Given the description of an element on the screen output the (x, y) to click on. 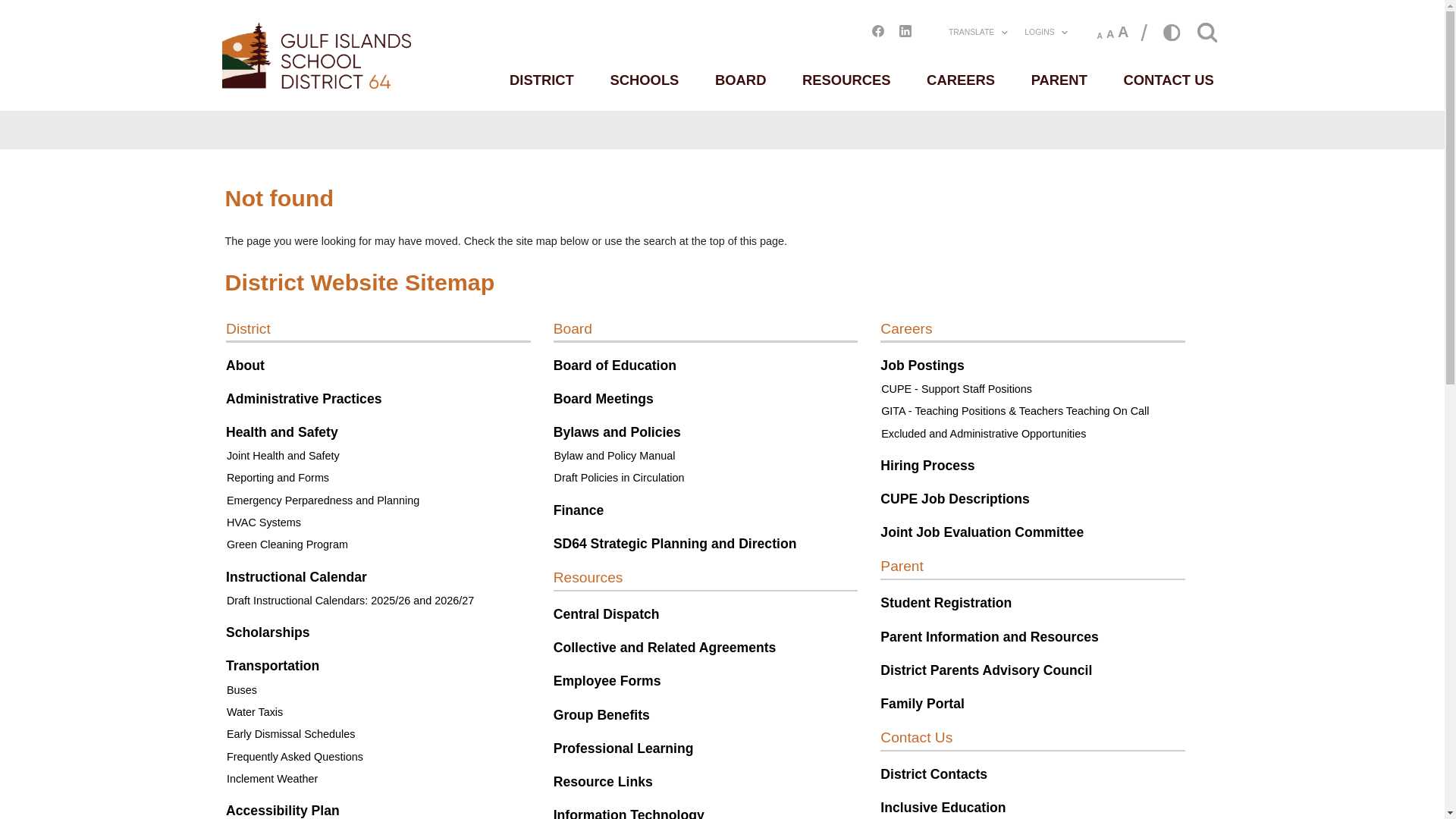
Joint Health and Safety Element type: text (353, 569)
RESOURCES Element type: text (1058, 100)
Board of Education Element type: text (768, 456)
Parent Information and Resources Element type: text (1237, 795)
SCHOOLS Element type: text (805, 100)
Excluded and Administrative Opportunities Element type: text (1229, 541)
Student Registration Element type: text (1182, 753)
Draft Policies in Circulation Element type: text (773, 597)
HVAC Systems Element type: text (329, 652)
CUPE - Support Staff Positions Element type: text (1195, 485)
PARENT Element type: text (1323, 100)
Parent Element type: text (1127, 708)
Bylaws and Policies Element type: text (770, 539)
LOGINS Element type: text (1310, 40)
CAREERS Element type: text (1200, 100)
DISTRICT Element type: text (676, 100)
Administrative Practices Element type: text (379, 498)
Bylaw and Policy Manual Element type: text (767, 569)
Careers Element type: text (1133, 410)
CUPE Job Descriptions Element type: text (1194, 623)
Hiring Process Element type: text (1159, 581)
About Element type: text (306, 456)
Instructional Calendar Element type: text (370, 721)
Emergency Perparedness and Planning Element type: text (403, 625)
TRANSLATE Element type: text (1219, 40)
Board Element type: text (715, 410)
Draft Instructional Calendars: 2025/26 and 2026/27 Element type: text (437, 750)
Joint Job Evaluation Committee Element type: text (1228, 664)
A Element type: text (1388, 42)
A Element type: text (1404, 38)
SD64 Strategic Planning and Direction Element type: text (843, 679)
District Element type: text (310, 410)
Job Postings Element type: text (1153, 456)
Finance Element type: text (722, 636)
Board Meetings Element type: text (753, 498)
Scholarships Element type: text (334, 790)
BOARD Element type: text (925, 100)
Green Cleaning Program Element type: text (358, 680)
GITA - Teaching Positions & Teachers Teaching On Call Element type: text (1269, 513)
A Element type: text (1374, 45)
Health and Safety Element type: text (352, 539)
Reporting and Forms Element type: text (346, 597)
Central Dispatch Element type: text (757, 767)
Resources Element type: text (734, 721)
  Element type: text (278, 162)
